Given the description of an element on the screen output the (x, y) to click on. 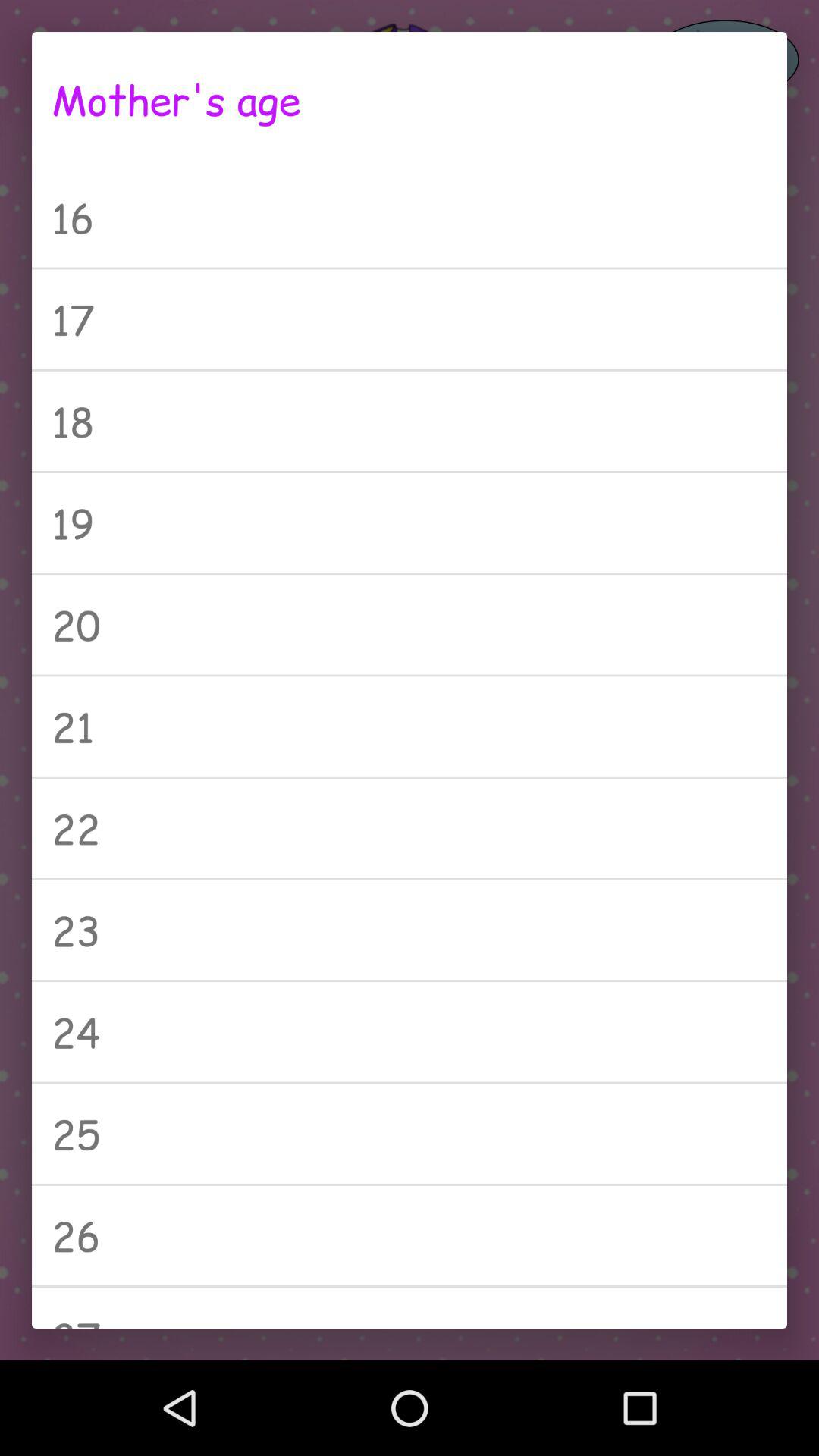
choose the item above 26 item (409, 1133)
